Given the description of an element on the screen output the (x, y) to click on. 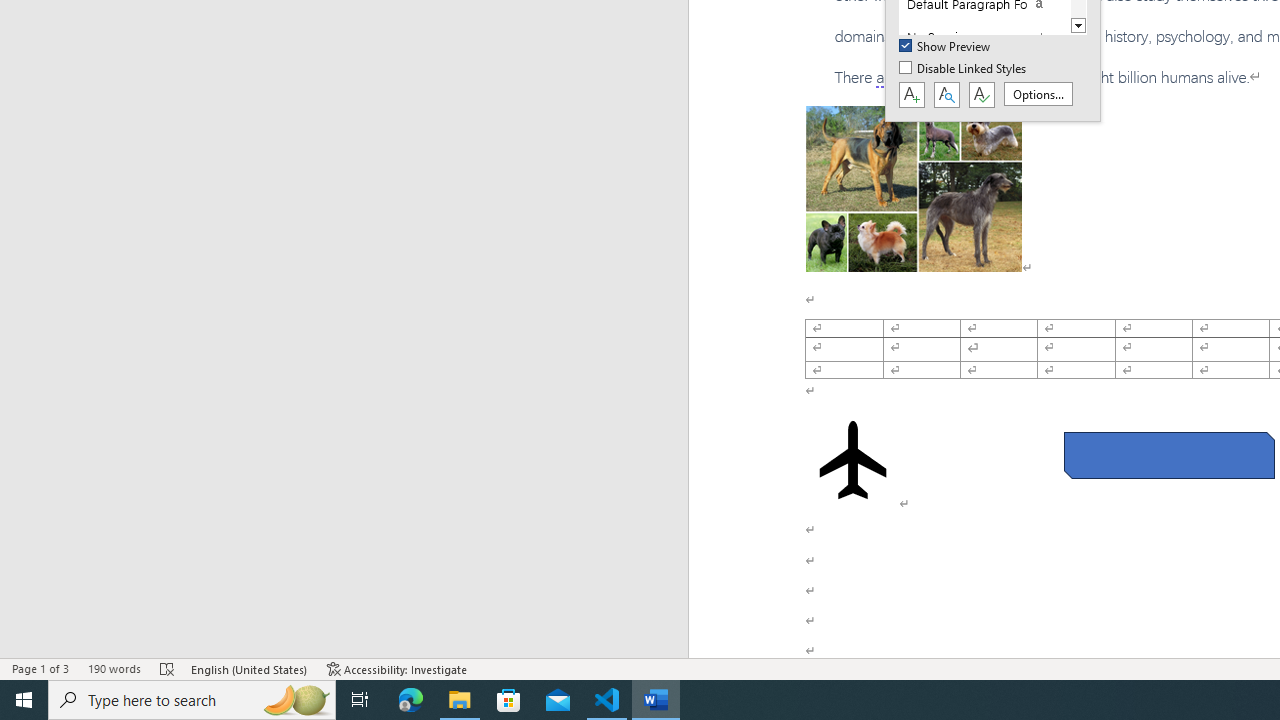
Morphological variation in six dogs (913, 188)
Accessibility Checker Accessibility: Investigate (397, 668)
Disable Linked Styles (964, 69)
No Spacing (984, 37)
Spelling and Grammar Check Errors (168, 668)
Language English (United States) (250, 668)
Class: NetUIButton (981, 95)
Options... (1037, 93)
Airplane with solid fill (852, 459)
Class: NetUIImage (971, 37)
Page Number Page 1 of 3 (39, 668)
Rectangle: Diagonal Corners Snipped 2 (1168, 455)
Show Preview (946, 47)
